Given the description of an element on the screen output the (x, y) to click on. 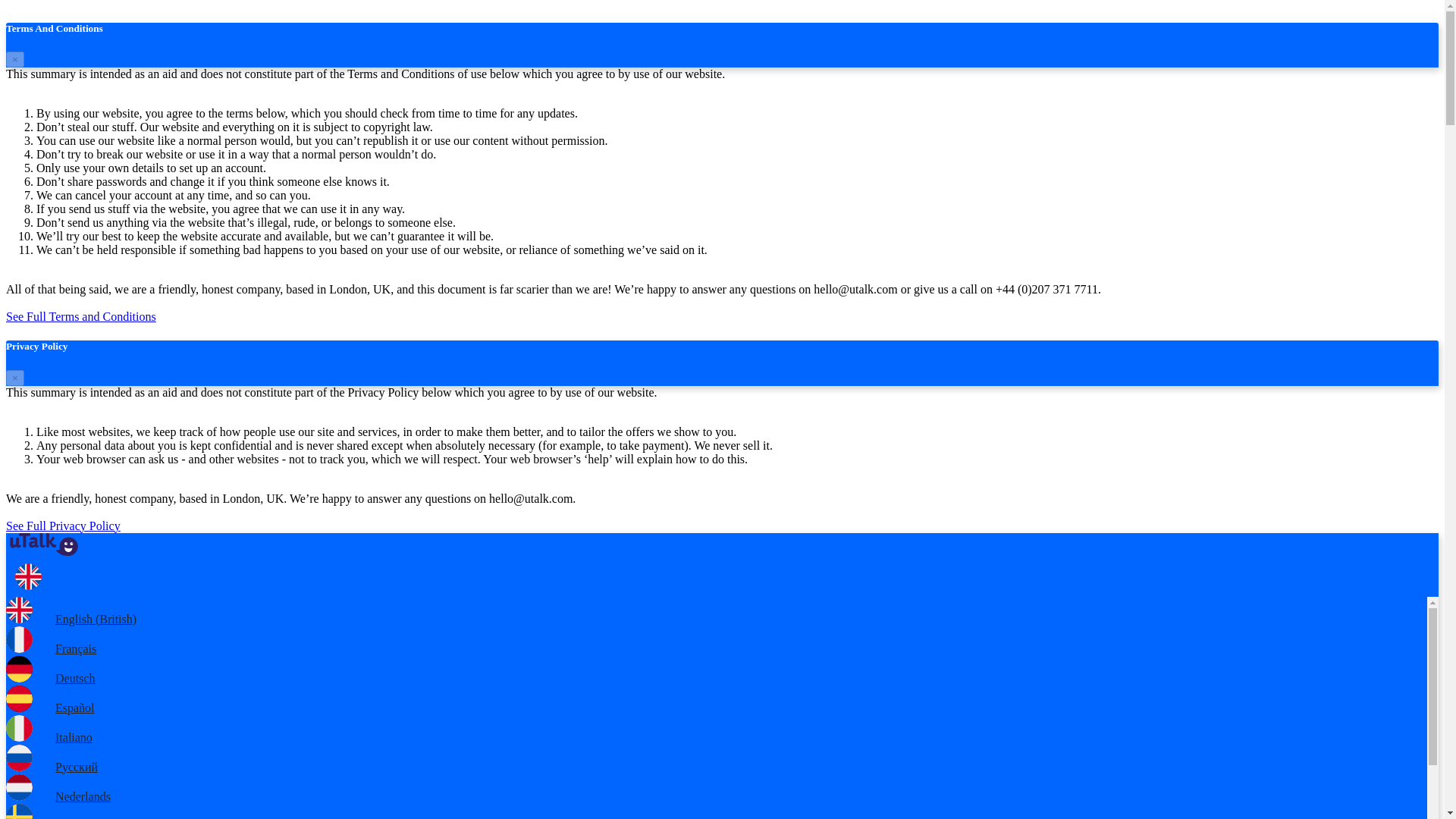
Deutsch (49, 677)
See Full Terms and Conditions (80, 316)
Nederlands (57, 796)
See Full Privacy Policy (62, 525)
Italiano (49, 737)
